Given the description of an element on the screen output the (x, y) to click on. 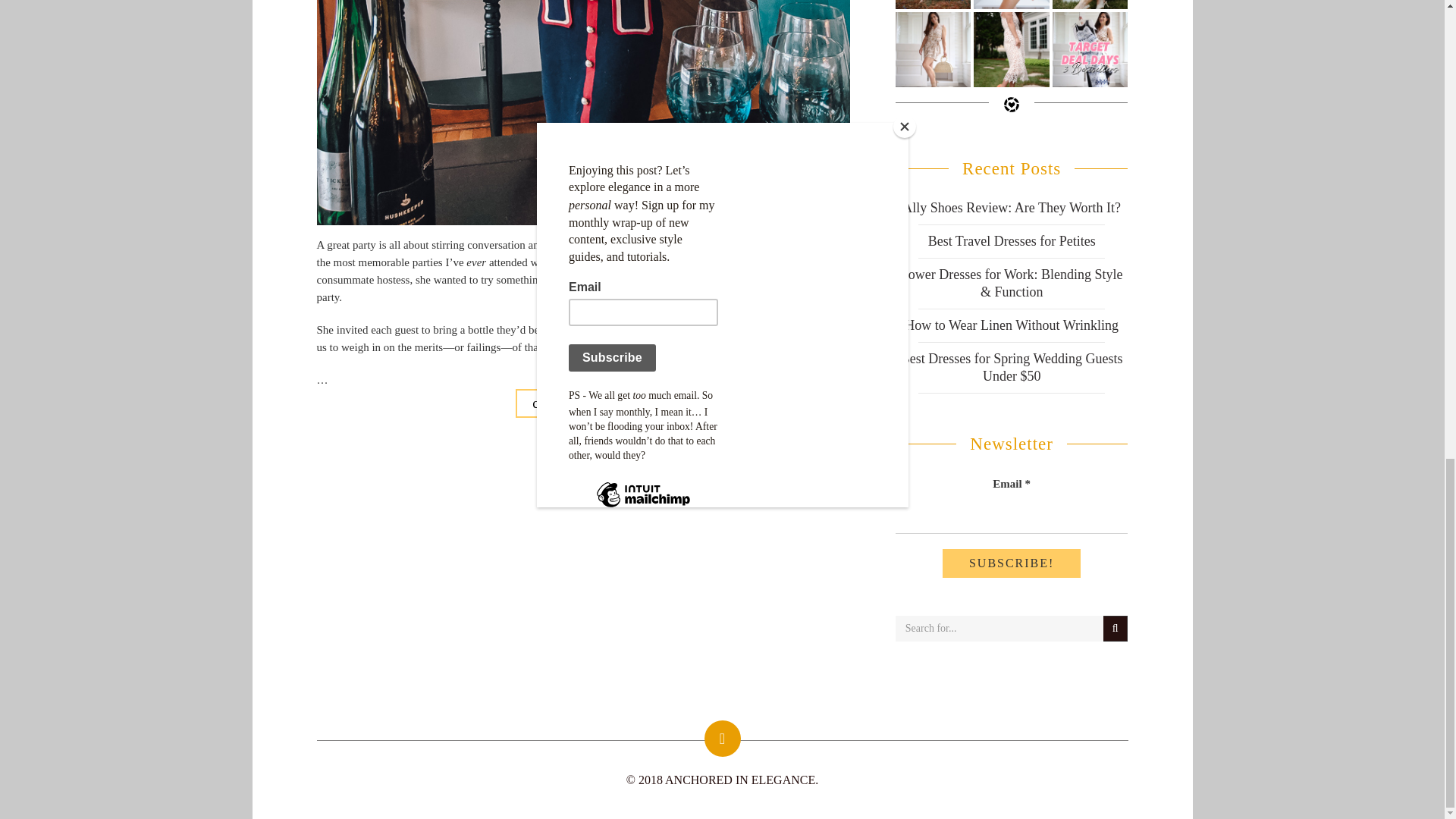
Subscribe! (1011, 563)
continue reading... (582, 403)
